Given the description of an element on the screen output the (x, y) to click on. 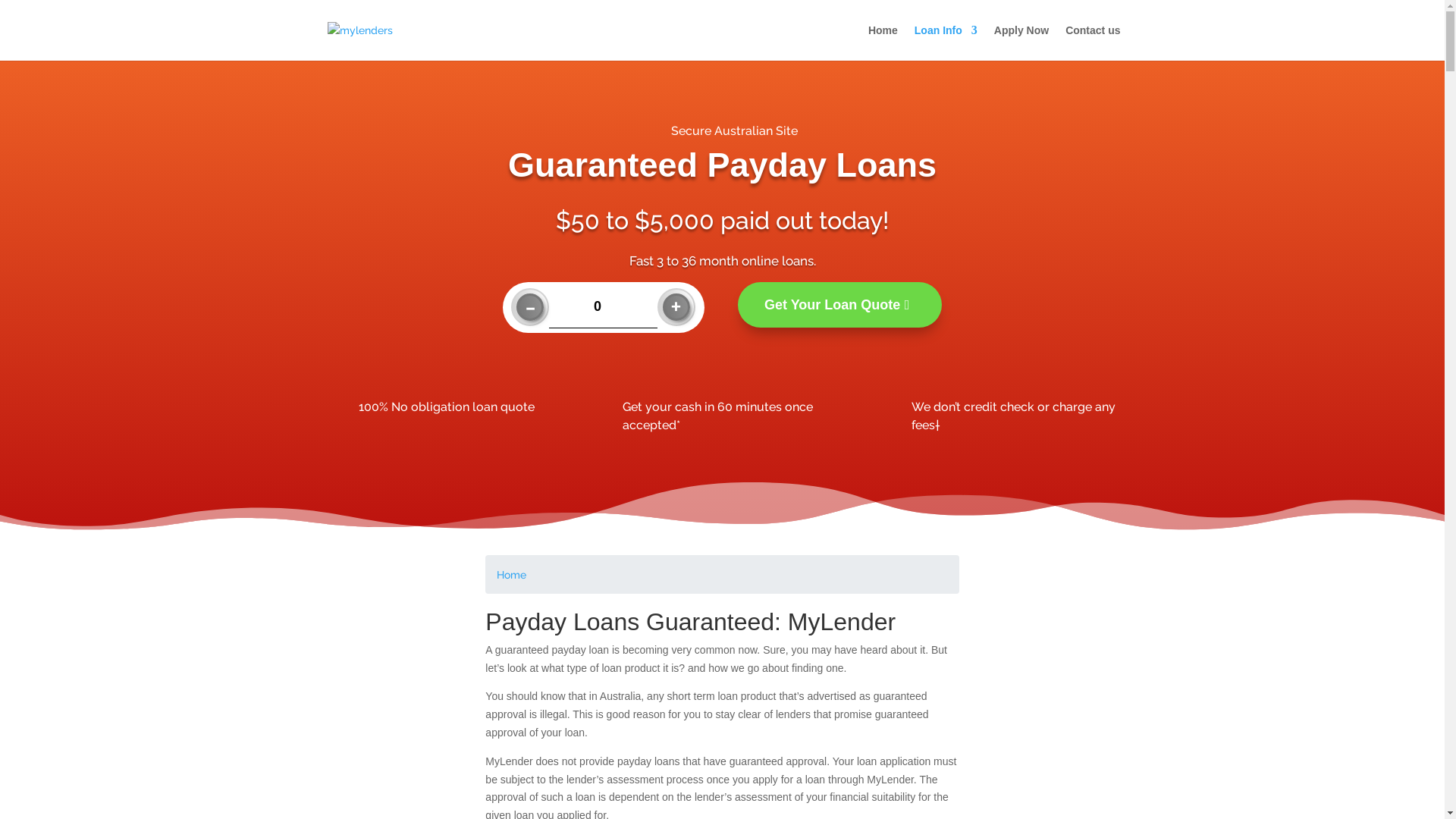
Home Element type: text (882, 42)
Apply Now Element type: text (1021, 42)
Home Element type: text (511, 575)
Loan Info Element type: text (945, 42)
- Element type: text (530, 307)
+ Element type: text (676, 307)
Get Your Loan Quote Element type: text (839, 305)
Contact us Element type: text (1092, 42)
